Given the description of an element on the screen output the (x, y) to click on. 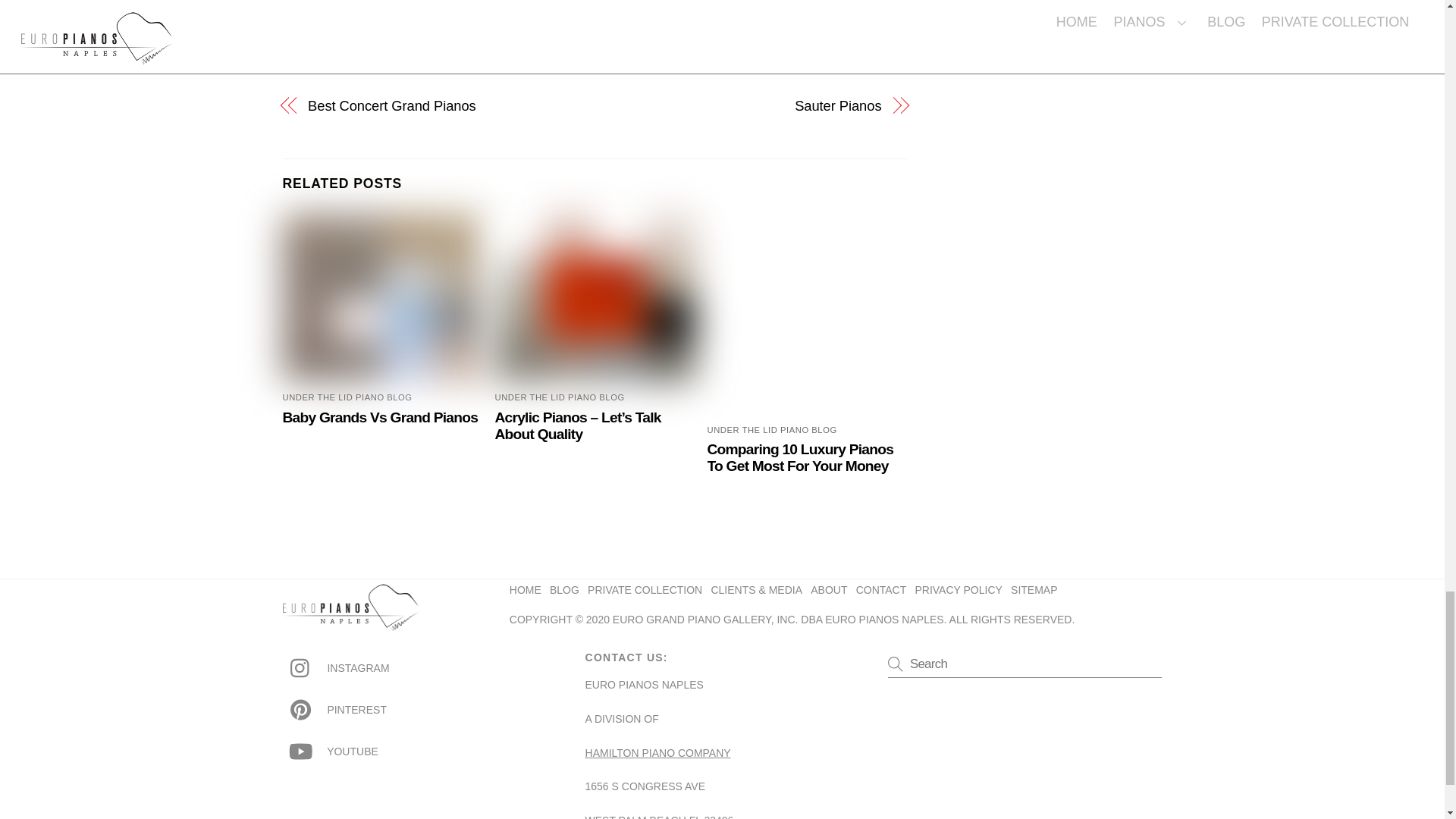
Best Concert Grand Pianos (441, 106)
luxury piano (807, 298)
baby grands vs grand pianos (381, 298)
acrylic piano quality (595, 298)
Sauter Pianos (746, 106)
